Given the description of an element on the screen output the (x, y) to click on. 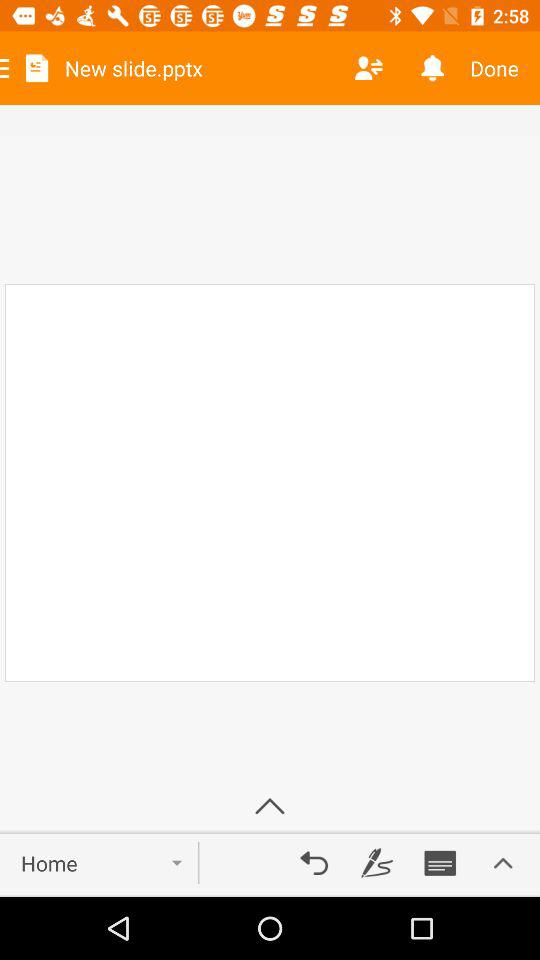
tap the item next to done icon (431, 68)
